Given the description of an element on the screen output the (x, y) to click on. 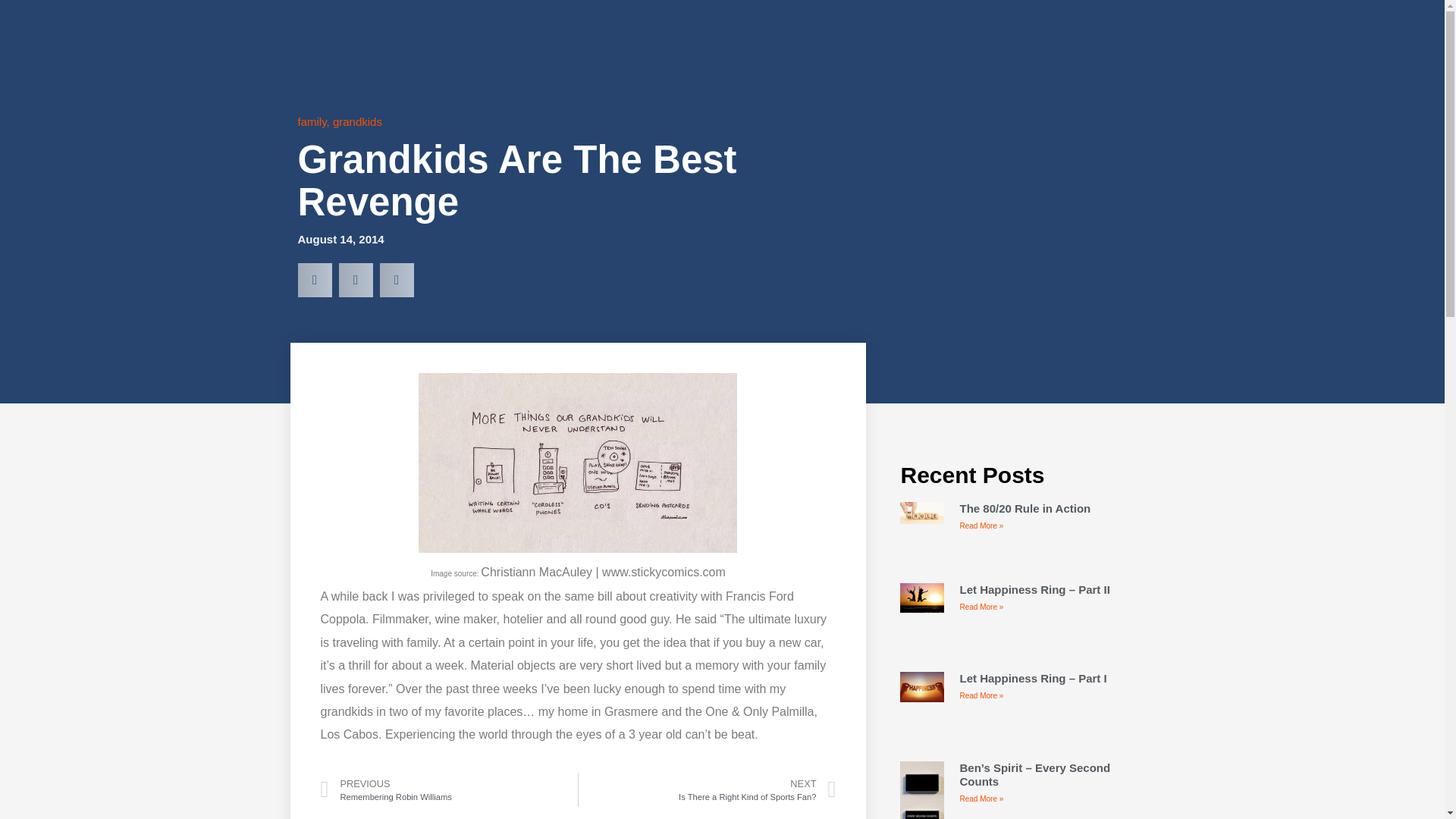
August 14, 2014 (340, 239)
family (706, 789)
grandkids (311, 121)
